Given the description of an element on the screen output the (x, y) to click on. 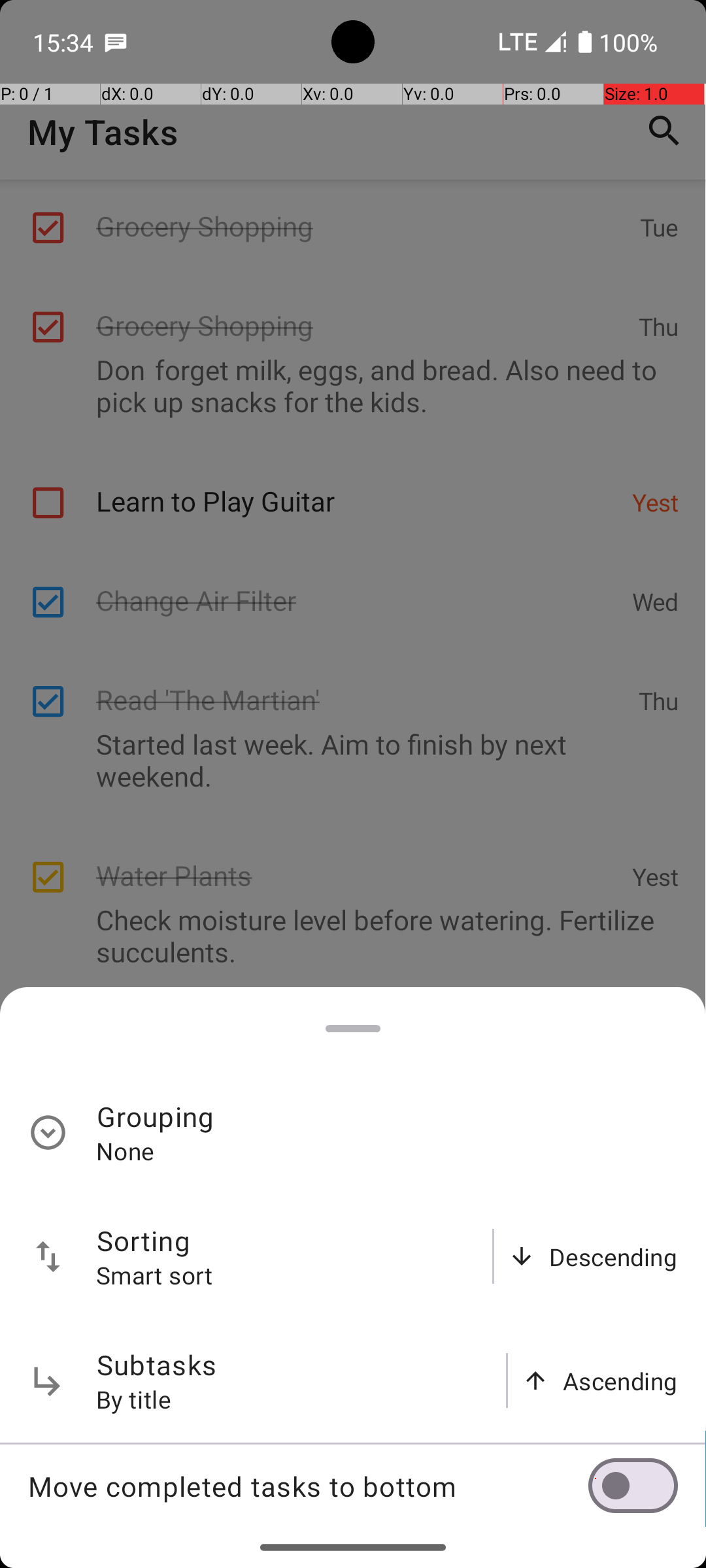
Drag handle Element type: android.view.View (352, 1028)
Grouping Element type: android.widget.TextView (155, 1115)
Sorting Element type: android.widget.TextView (143, 1239)
Smart sort Element type: android.widget.TextView (154, 1274)
Subtasks Element type: android.widget.TextView (156, 1364)
By title Element type: android.widget.TextView (133, 1399)
Move completed tasks to bottom Element type: android.widget.TextView (307, 1485)
Descending Element type: android.widget.TextView (613, 1256)
Ascending Element type: android.widget.TextView (619, 1380)
